Given the description of an element on the screen output the (x, y) to click on. 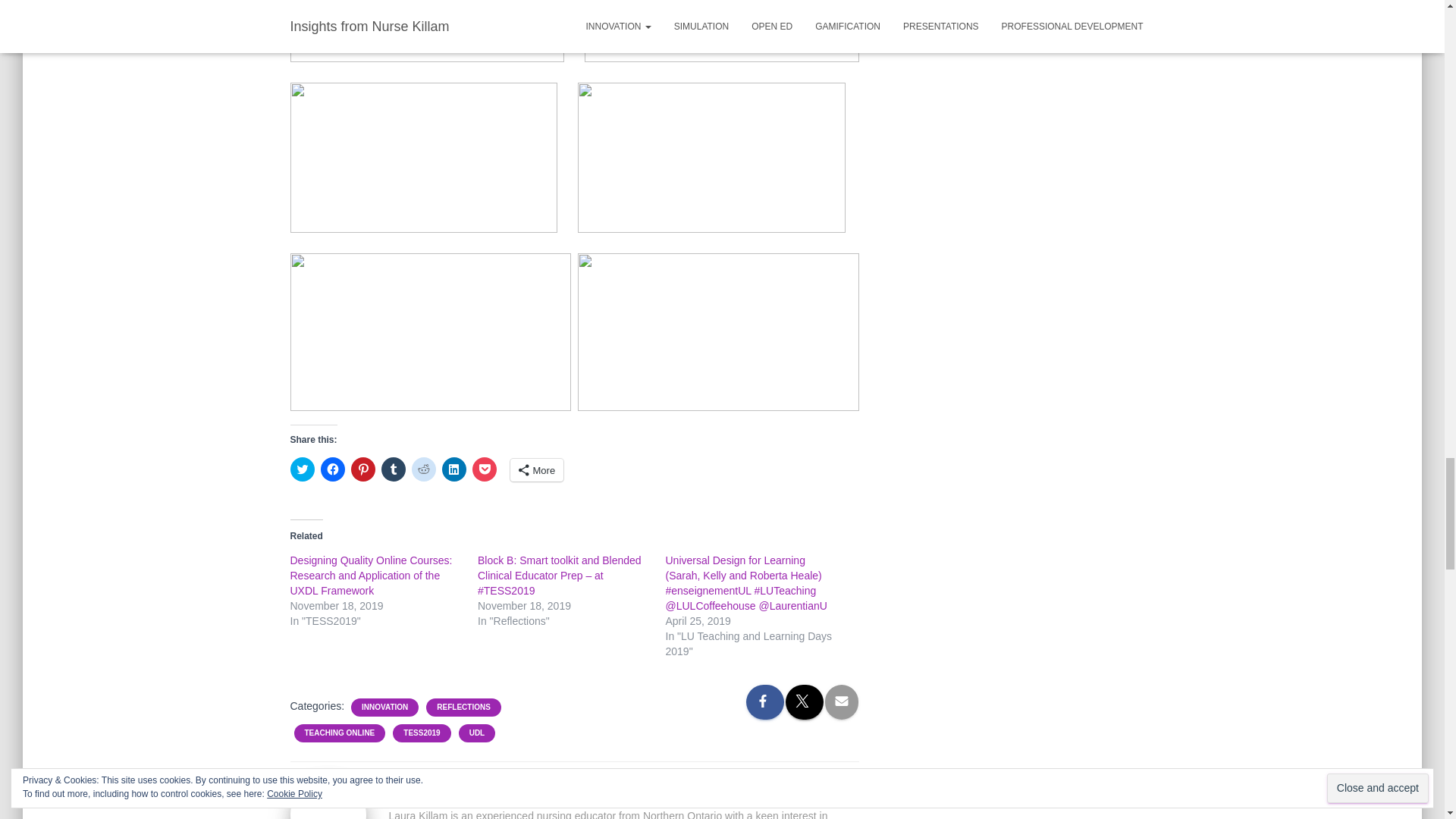
More (536, 469)
Click to share on Tumblr (392, 469)
Click to share on Twitter (301, 469)
Click to share on Facebook (331, 469)
Click to share on Pinterest (362, 469)
